Given the description of an element on the screen output the (x, y) to click on. 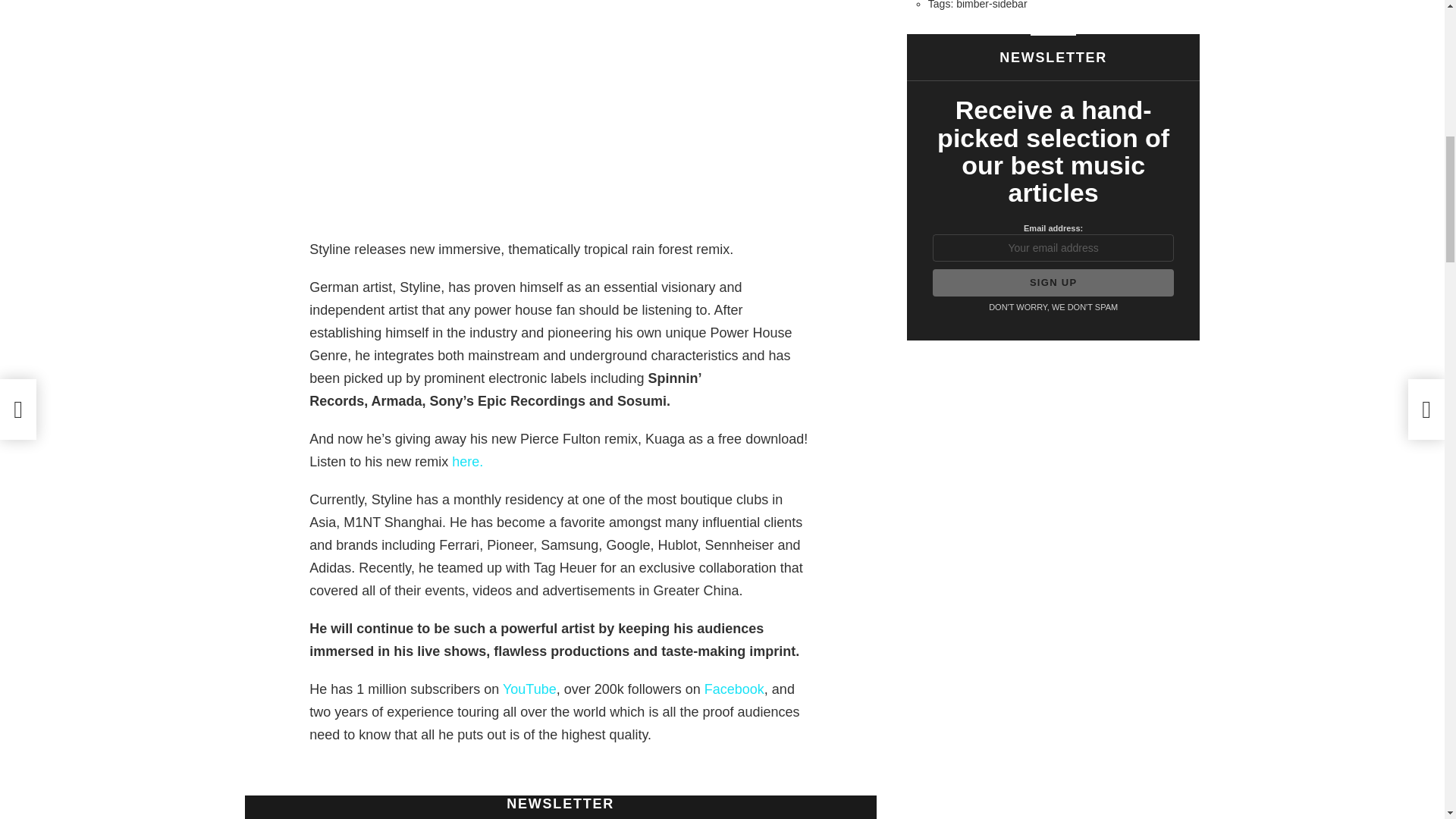
Facebook (734, 688)
here. (467, 461)
Sign up (1053, 282)
YouTube (529, 688)
